Given the description of an element on the screen output the (x, y) to click on. 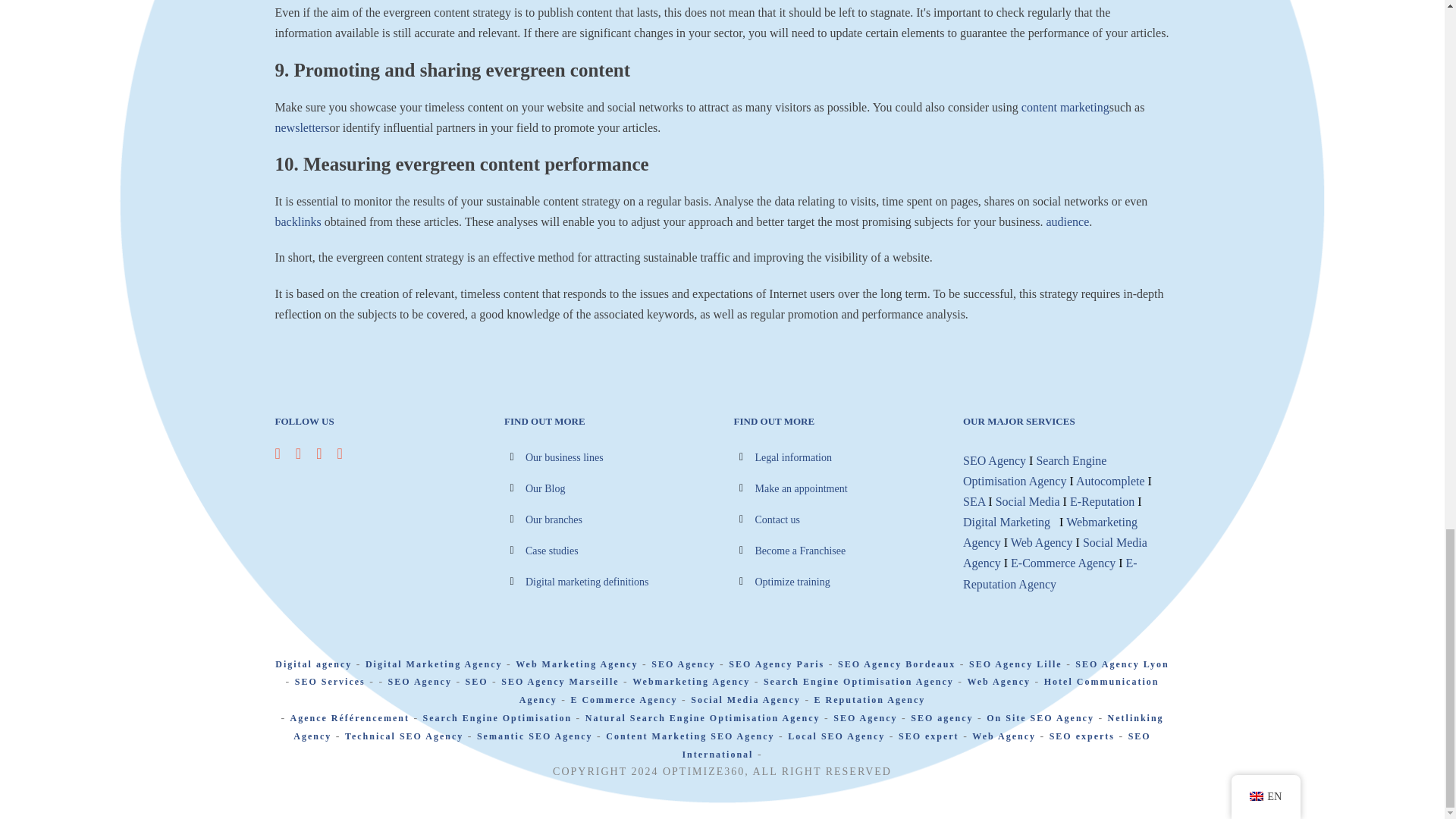
Our branches (553, 519)
Our digital businesses (564, 457)
Case studies (551, 550)
Legal information (793, 457)
OptimEurope (800, 550)
Our Blog (545, 488)
Contact page (777, 519)
